Given the description of an element on the screen output the (x, y) to click on. 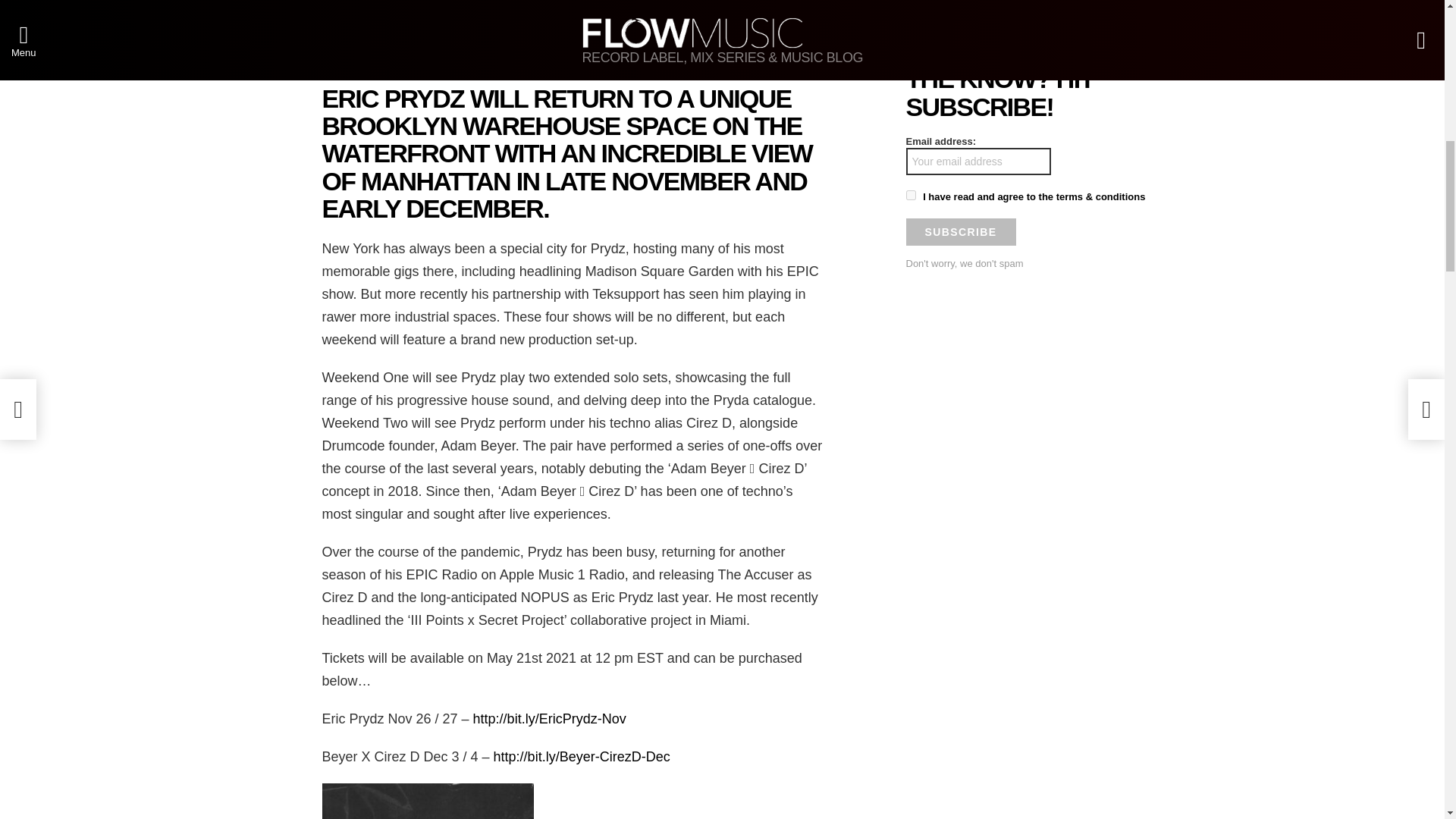
Tweet (719, 50)
1 (910, 194)
Share (430, 50)
SUBSCRIBE (959, 231)
